Given the description of an element on the screen output the (x, y) to click on. 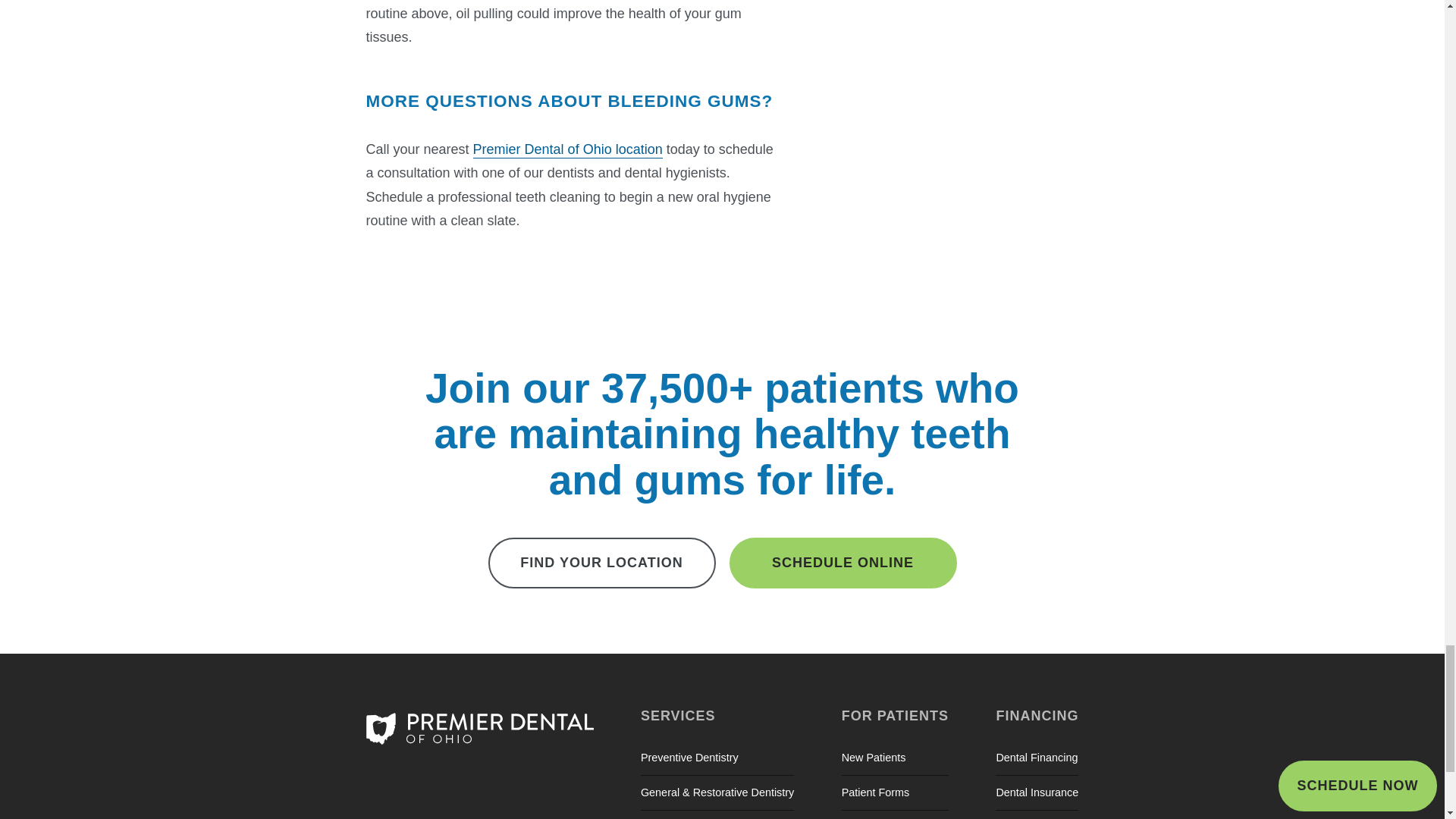
Premier Dental of Ohio location (567, 149)
